Given the description of an element on the screen output the (x, y) to click on. 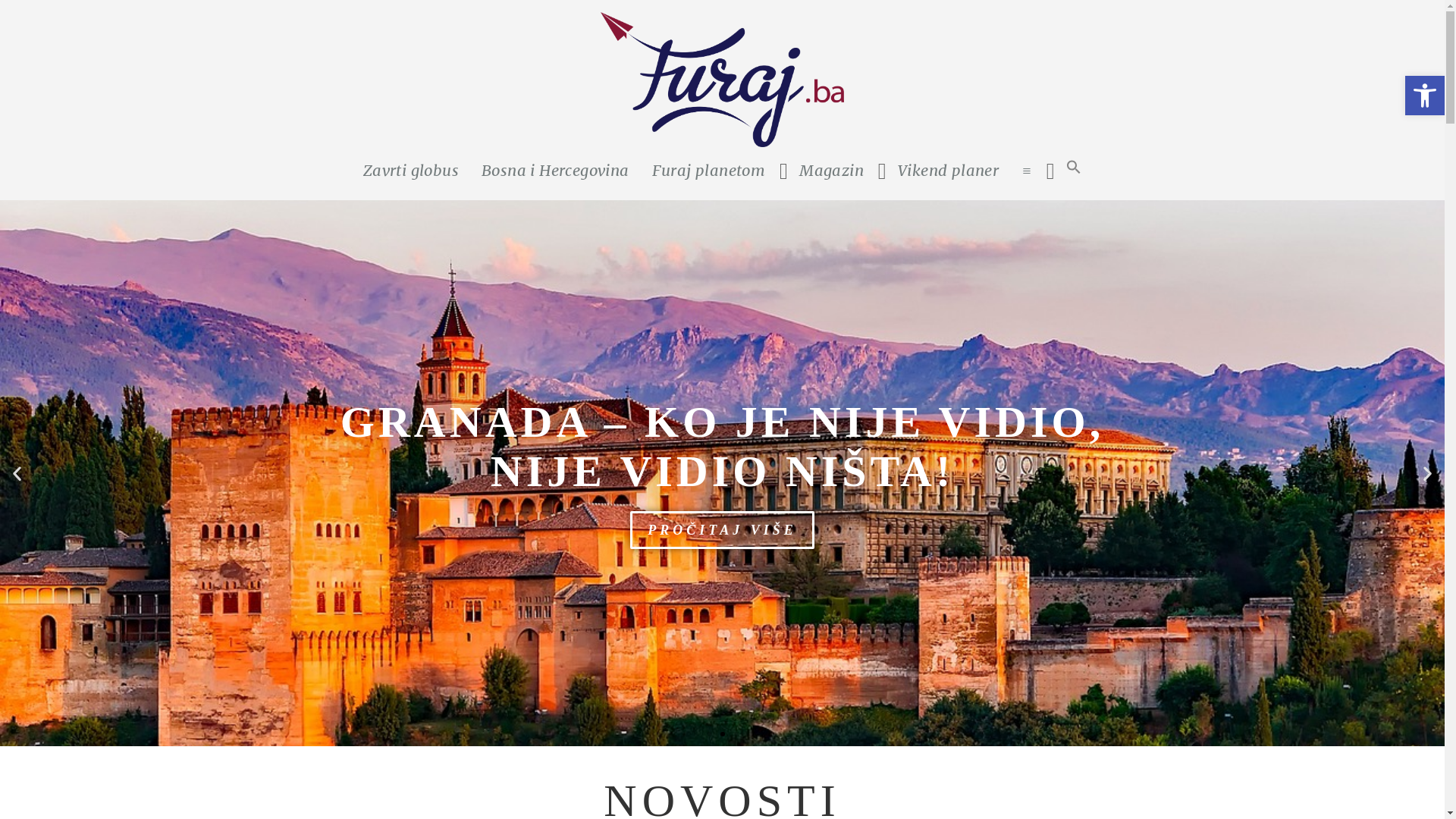
Bosna i Hercegovina Element type: text (555, 170)
Zavrti globus Element type: text (722, 226)
Vikend planer Element type: text (948, 170)
Furaj planetom Element type: text (708, 170)
Zavrti globus Element type: text (410, 170)
Magazin Element type: text (831, 170)
